Given the description of an element on the screen output the (x, y) to click on. 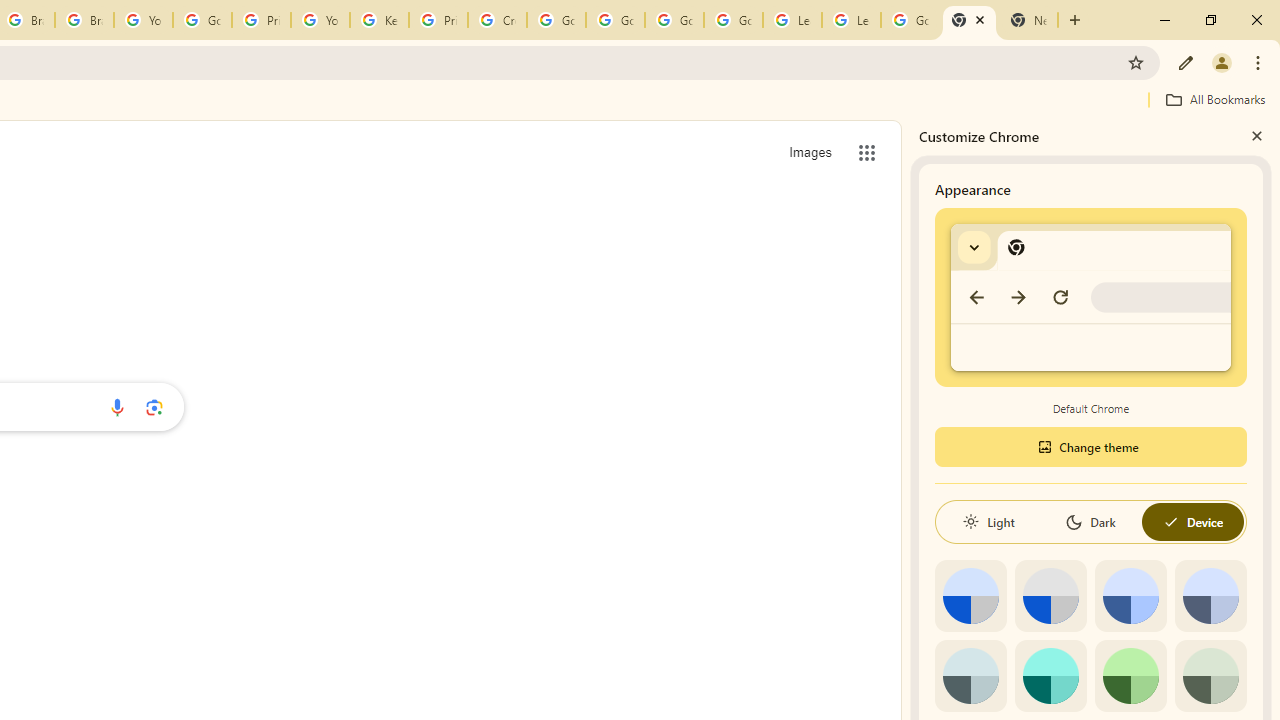
YouTube (142, 20)
Create your Google Account (497, 20)
Default Chrome (1091, 296)
New Tab (1028, 20)
Grey (970, 676)
Google Account Help (615, 20)
